Given the description of an element on the screen output the (x, y) to click on. 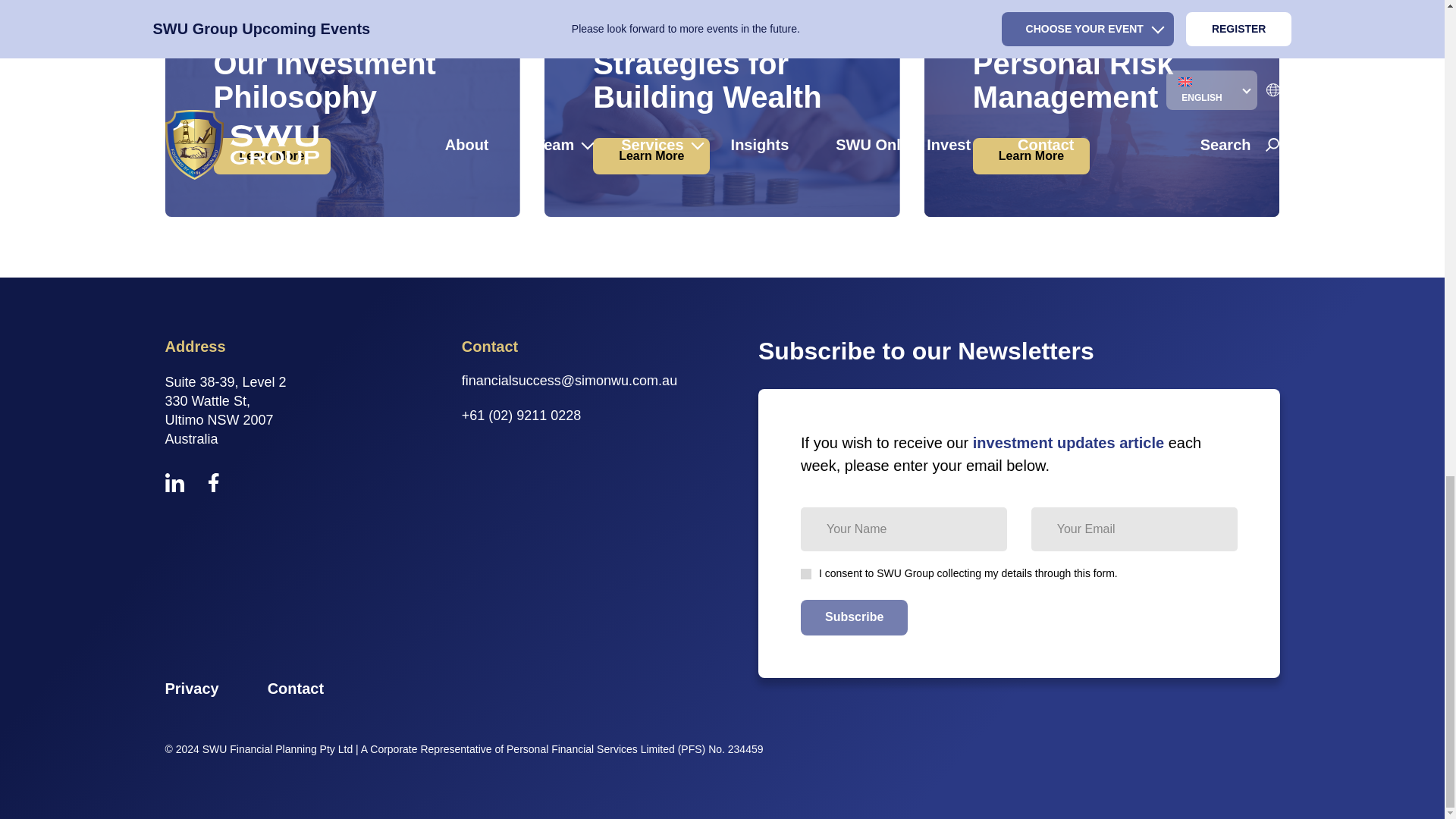
Learn More (272, 155)
Learn More (1030, 155)
Learn More (651, 155)
